Given the description of an element on the screen output the (x, y) to click on. 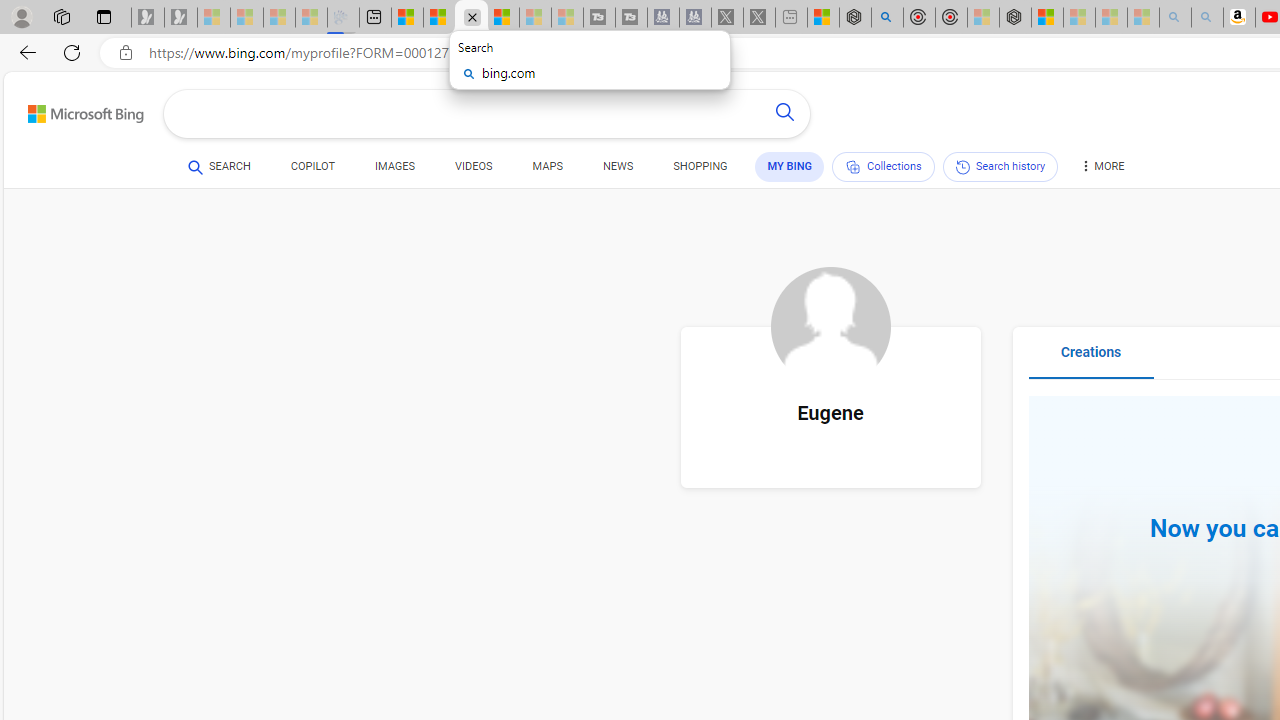
SEARCH (219, 167)
